Given the description of an element on the screen output the (x, y) to click on. 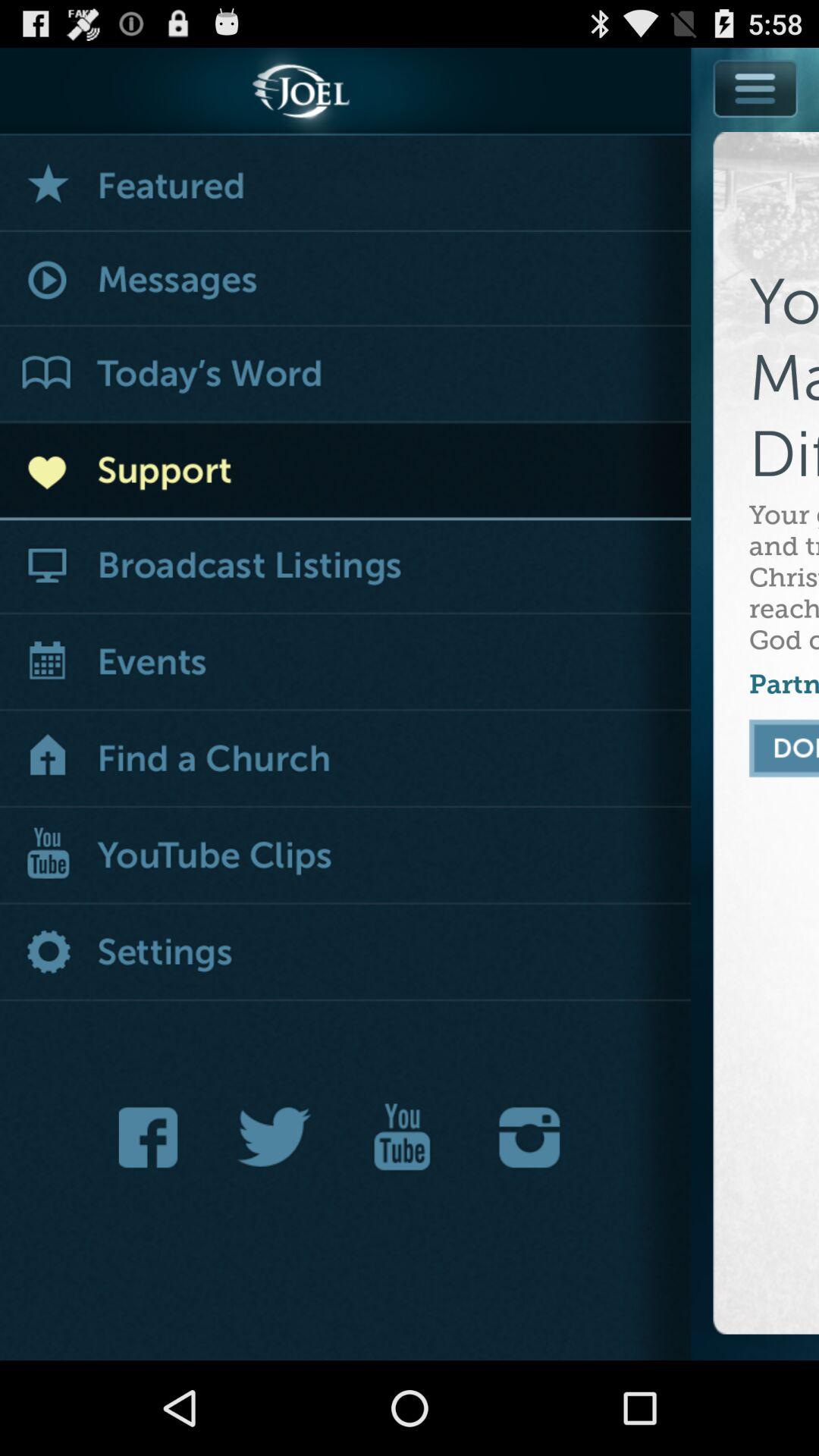
turn on the icon at the bottom left corner (152, 1137)
